Given the description of an element on the screen output the (x, y) to click on. 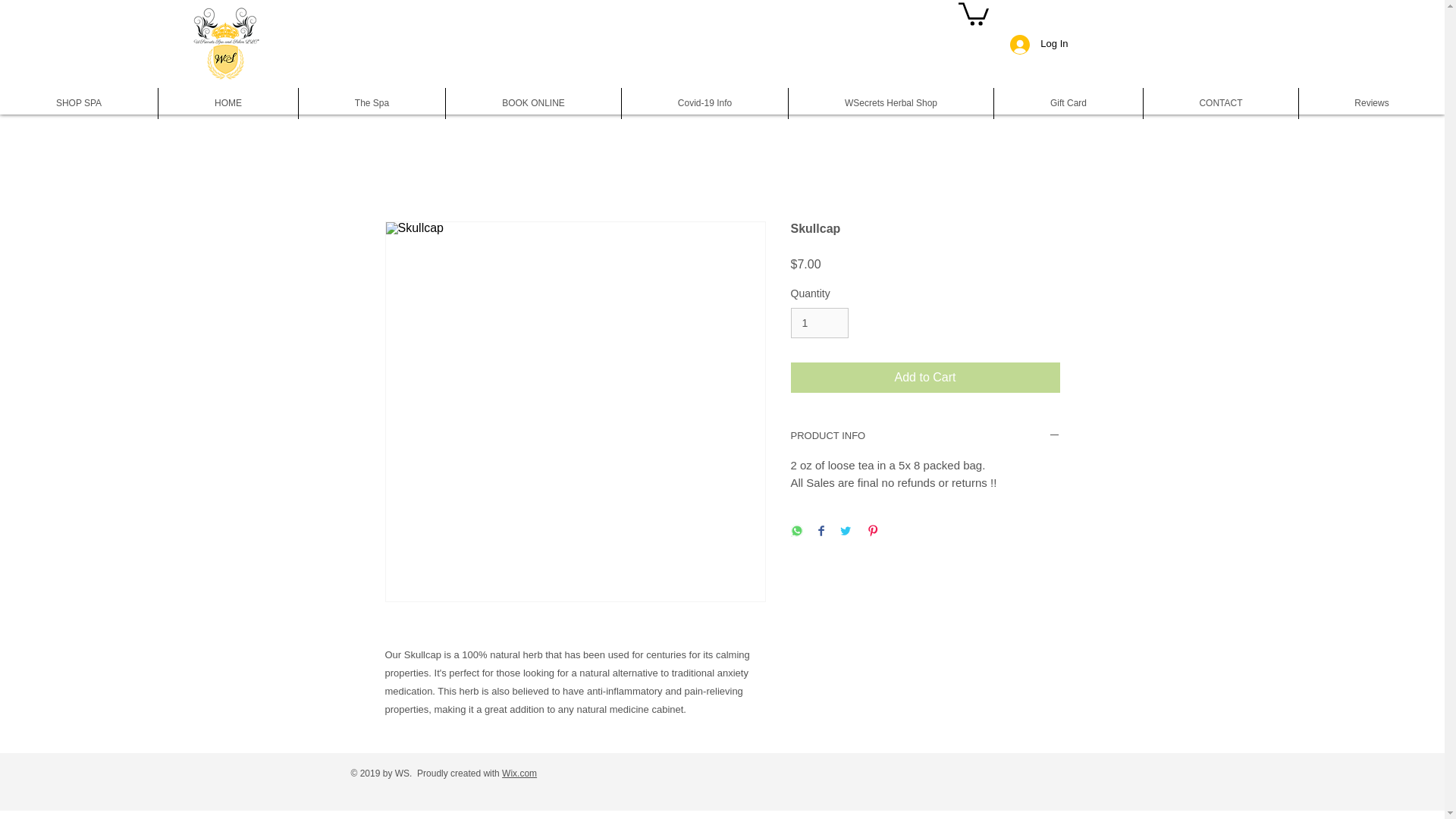
Gift Card (1068, 102)
PRODUCT INFO (924, 436)
Wix.com (519, 773)
Covid-19 Info (704, 102)
BOOK ONLINE (533, 102)
WSecrets Herbal Shop (890, 102)
Add to Cart (924, 377)
Log In (1038, 44)
HOME (228, 102)
SHOP SPA (78, 102)
